Given the description of an element on the screen output the (x, y) to click on. 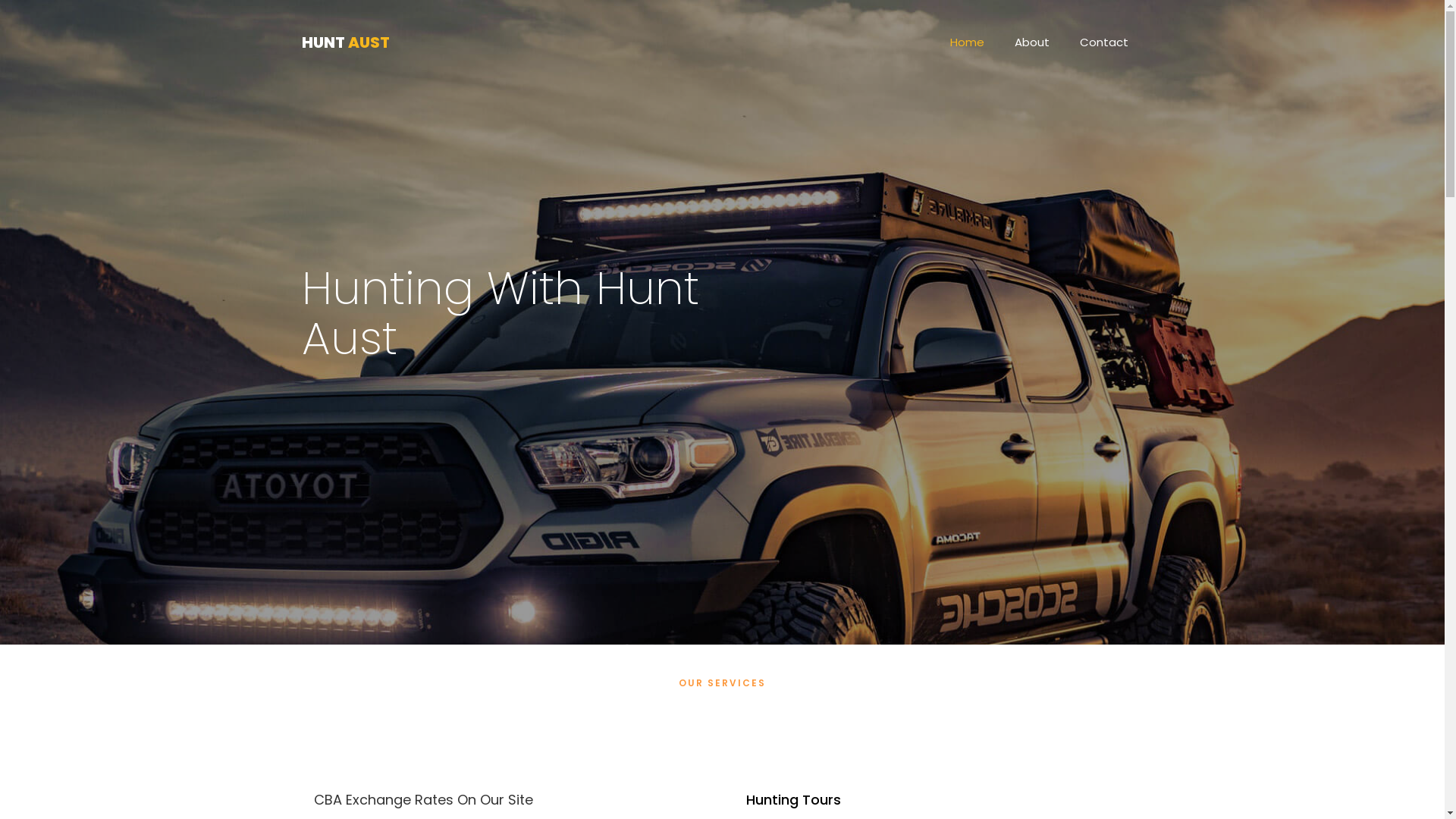
Home Element type: text (966, 42)
About Element type: text (1031, 42)
Contact Element type: text (1103, 42)
HUNT AUST Element type: text (345, 42)
